Given the description of an element on the screen output the (x, y) to click on. 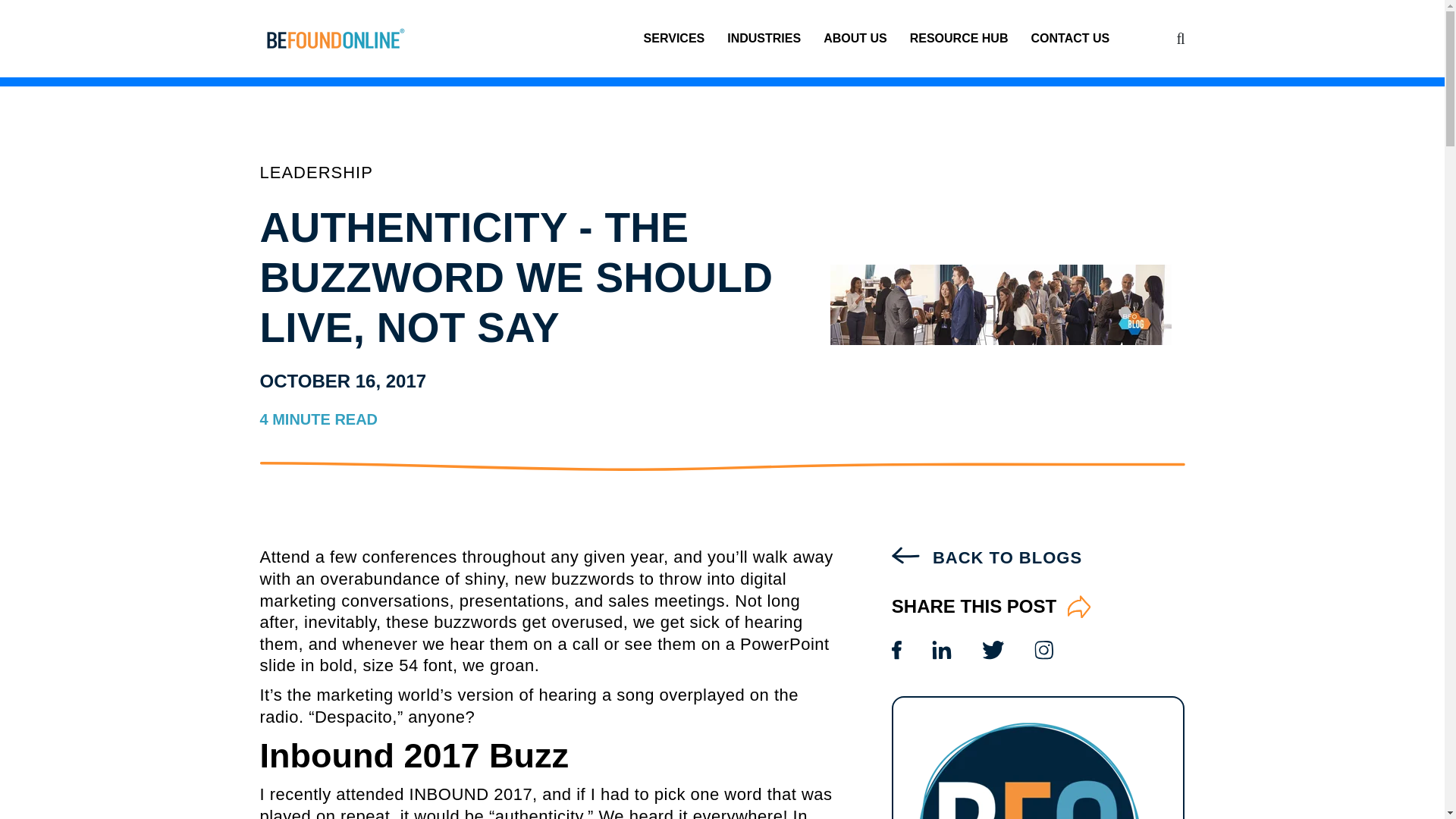
ABOUT US (855, 38)
INDUSTRIES (764, 38)
SERVICES (673, 38)
